Given the description of an element on the screen output the (x, y) to click on. 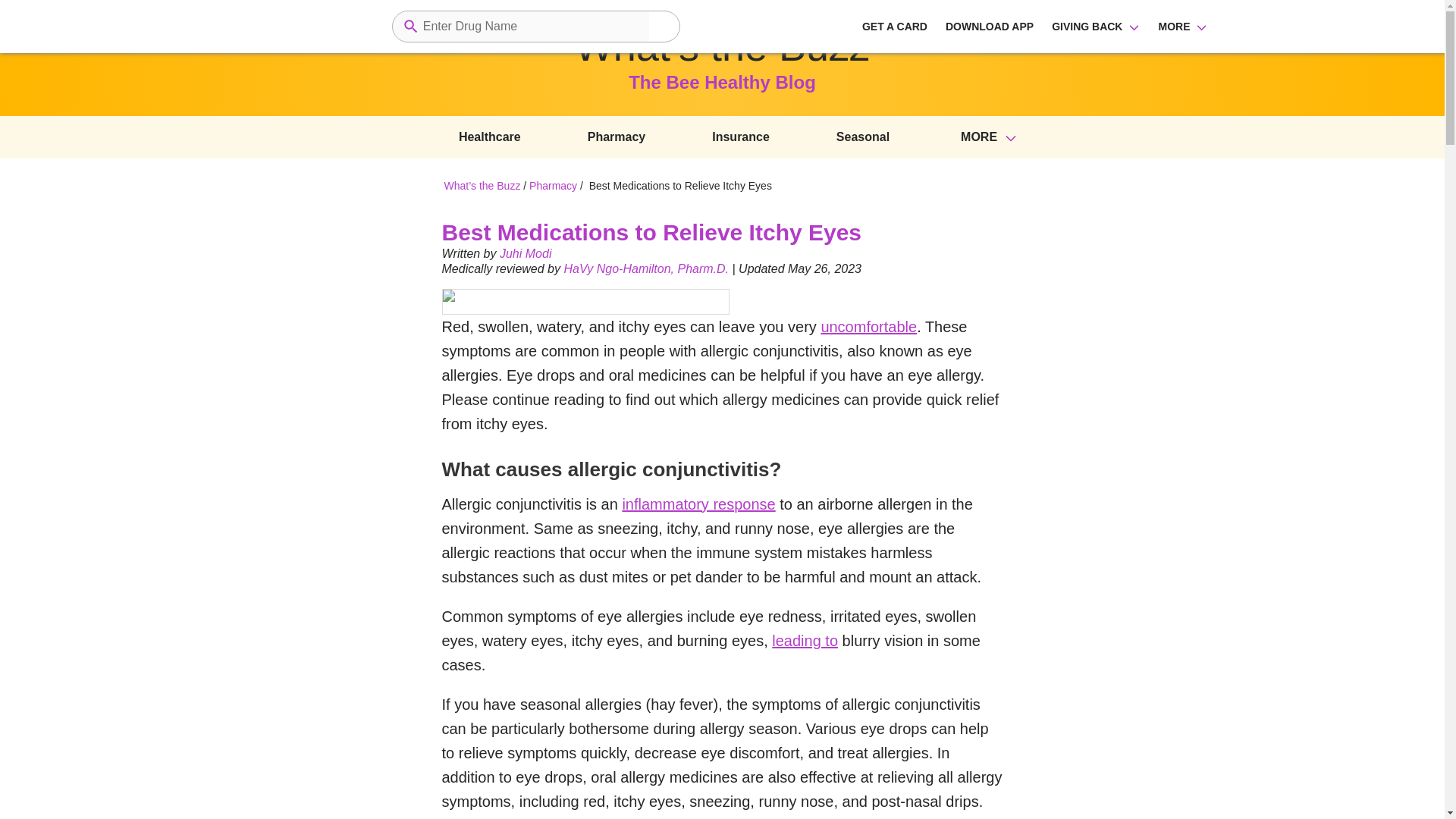
DOWNLOAD APP (988, 26)
Healthcare (489, 136)
Pharmacy (617, 136)
HaVy Ngo-Hamilton, Pharm.D. (646, 268)
inflammatory response (697, 504)
GET A CARD (894, 26)
uncomfortable (869, 326)
Pharmacy (557, 186)
GIVING BACK (1086, 25)
Seasonal (862, 136)
